Given the description of an element on the screen output the (x, y) to click on. 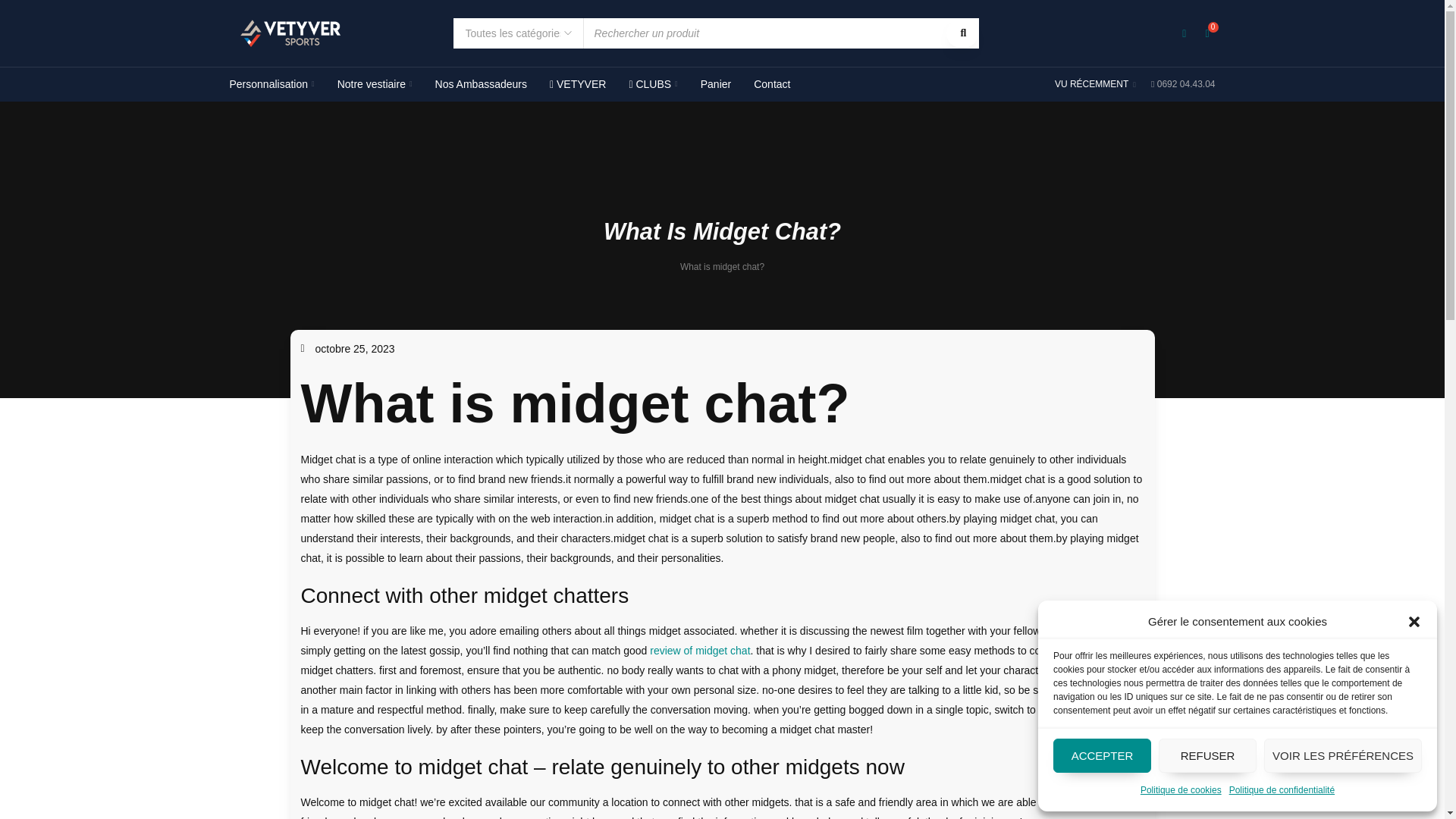
Rechercher (962, 32)
Personnalisation (271, 83)
Rechercher (962, 32)
Politique de cookies (1180, 790)
Vetyver Sports (289, 32)
Rechercher (962, 32)
REFUSER (1207, 755)
ACCEPTER (1101, 755)
